Given the description of an element on the screen output the (x, y) to click on. 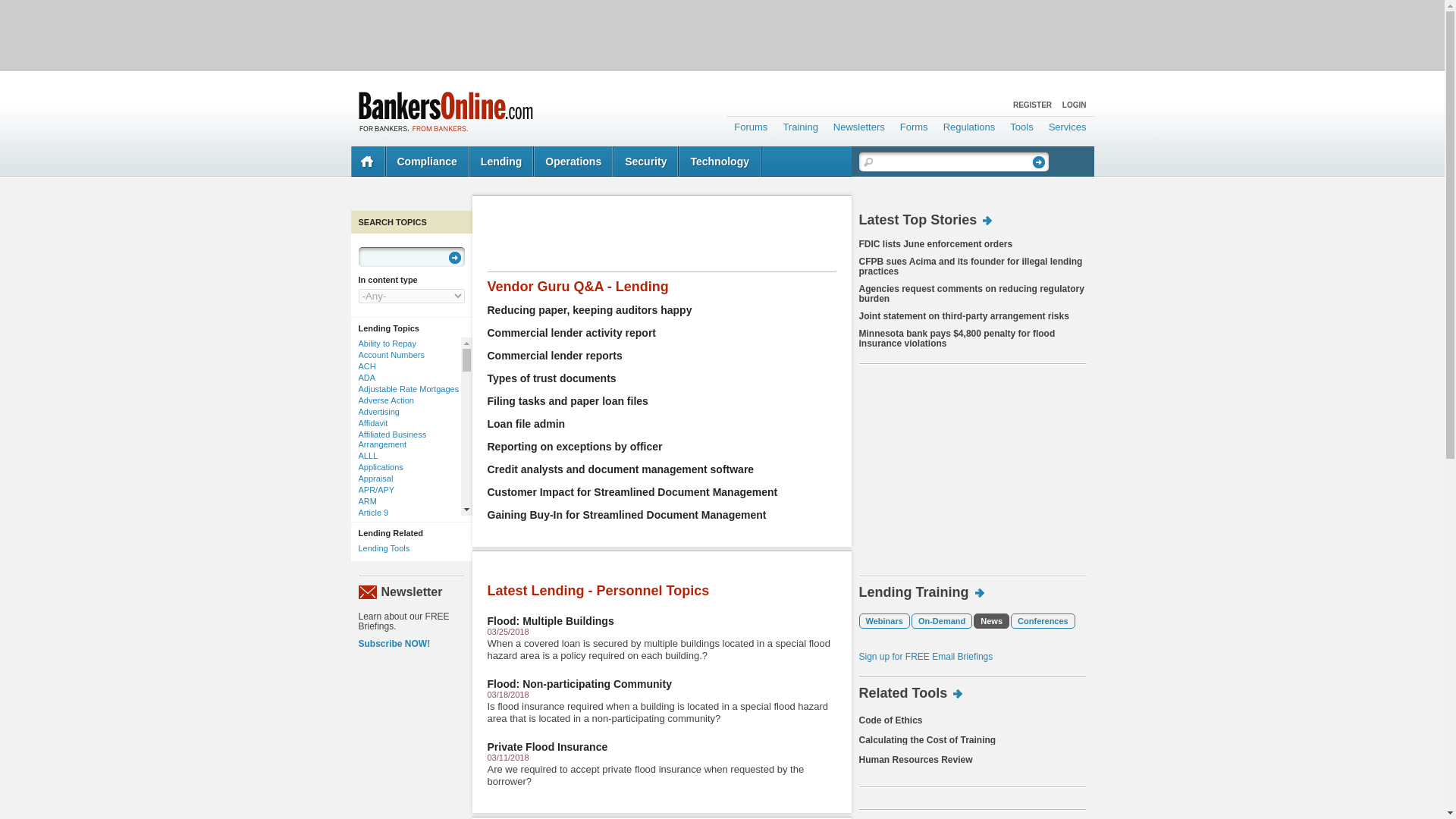
Search (1038, 162)
BankersOnline.com - For bankers. From bankers. (445, 111)
REGISTER (1032, 104)
LOGIN (1074, 104)
Services (1067, 124)
Operations (573, 161)
Enter the terms you wish to search for. (952, 161)
Search (454, 257)
Newsletters (858, 124)
Tools (1022, 124)
Home (367, 161)
Regulations (969, 124)
Forums (750, 124)
Search (1038, 162)
3rd party ad content (721, 33)
